Given the description of an element on the screen output the (x, y) to click on. 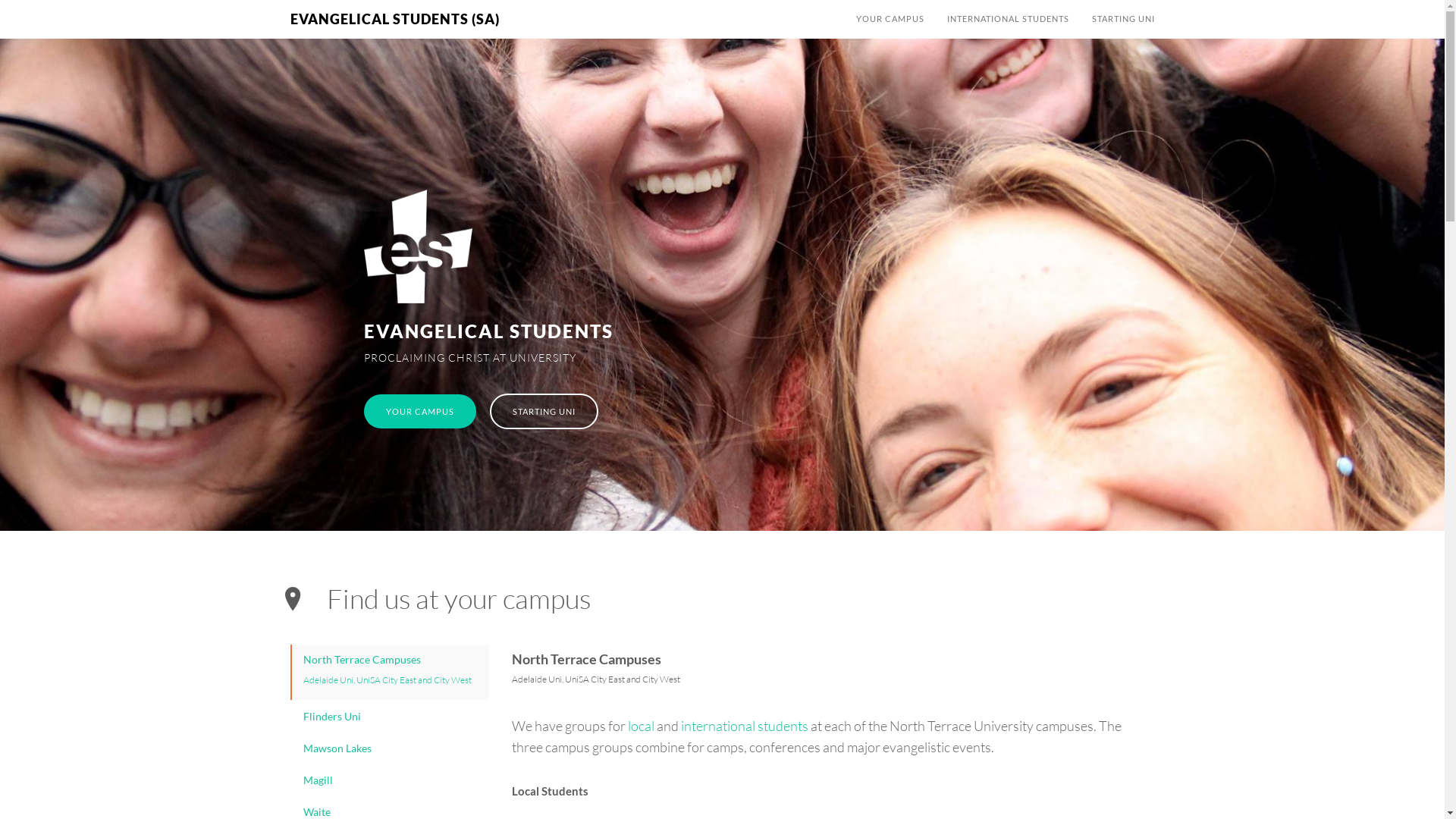
international students Element type: text (744, 725)
STARTING UNI Element type: text (1122, 18)
INTERNATIONAL STUDENTS Element type: text (1007, 18)
YOUR CAMPUS Element type: text (889, 18)
STARTING UNI Element type: text (543, 411)
local Element type: text (640, 725)
YOUR CAMPUS Element type: text (420, 411)
Magill Element type: text (390, 780)
EVANGELICAL STUDENTS (SA) Element type: text (395, 18)
Mawson Lakes Element type: text (390, 748)
Flinders Uni Element type: text (390, 716)
